Given the description of an element on the screen output the (x, y) to click on. 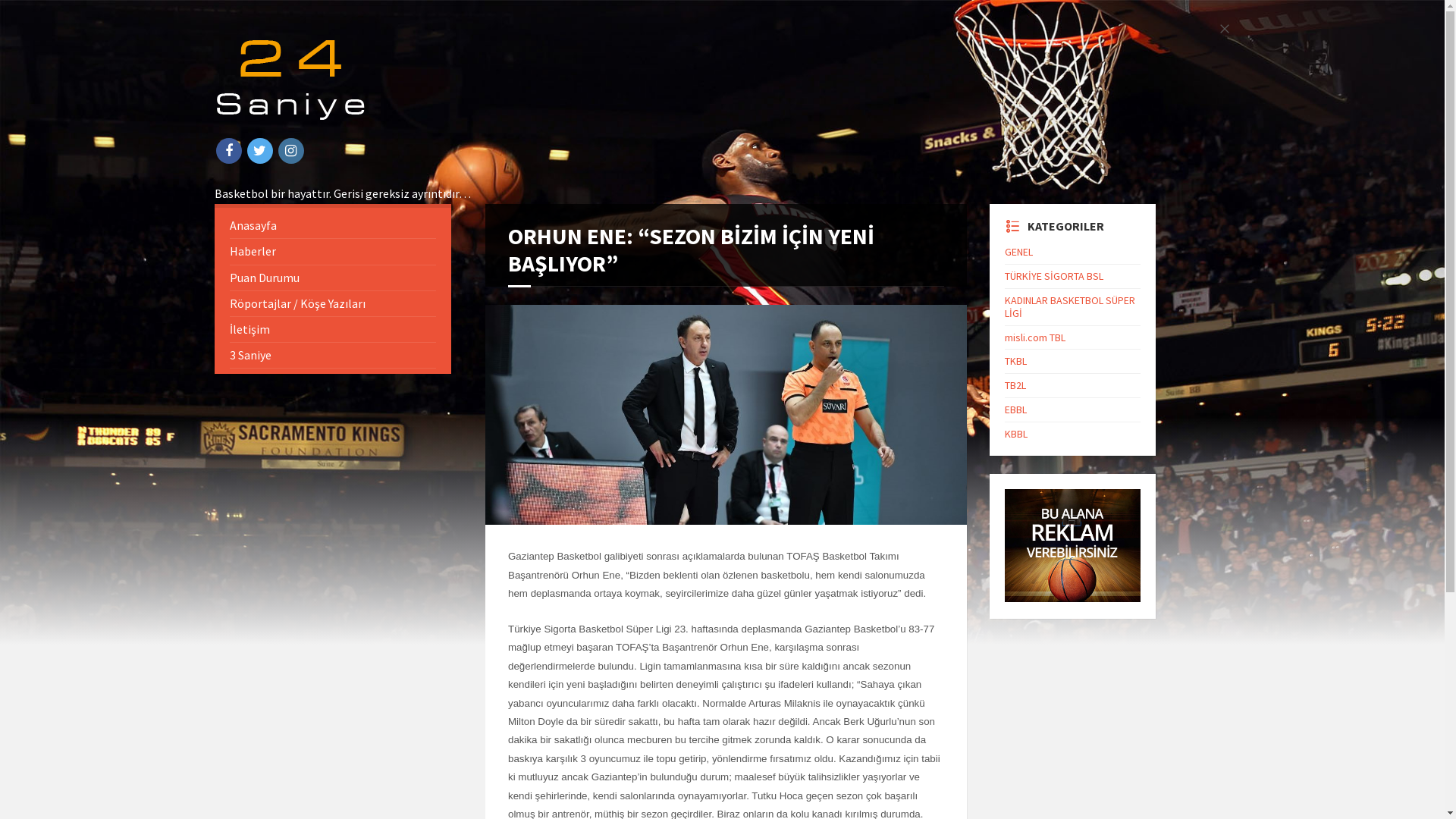
EBBL Element type: text (1015, 409)
TKBL Element type: text (1015, 360)
TB2L Element type: text (1015, 385)
KBBL Element type: text (1015, 433)
Puan Durumu Element type: text (332, 277)
GENEL Element type: text (1018, 251)
3 Saniye Element type: text (332, 354)
misli.com TBL Element type: text (1034, 337)
Anasayfa Element type: text (332, 225)
Haberler Element type: text (332, 250)
